Given the description of an element on the screen output the (x, y) to click on. 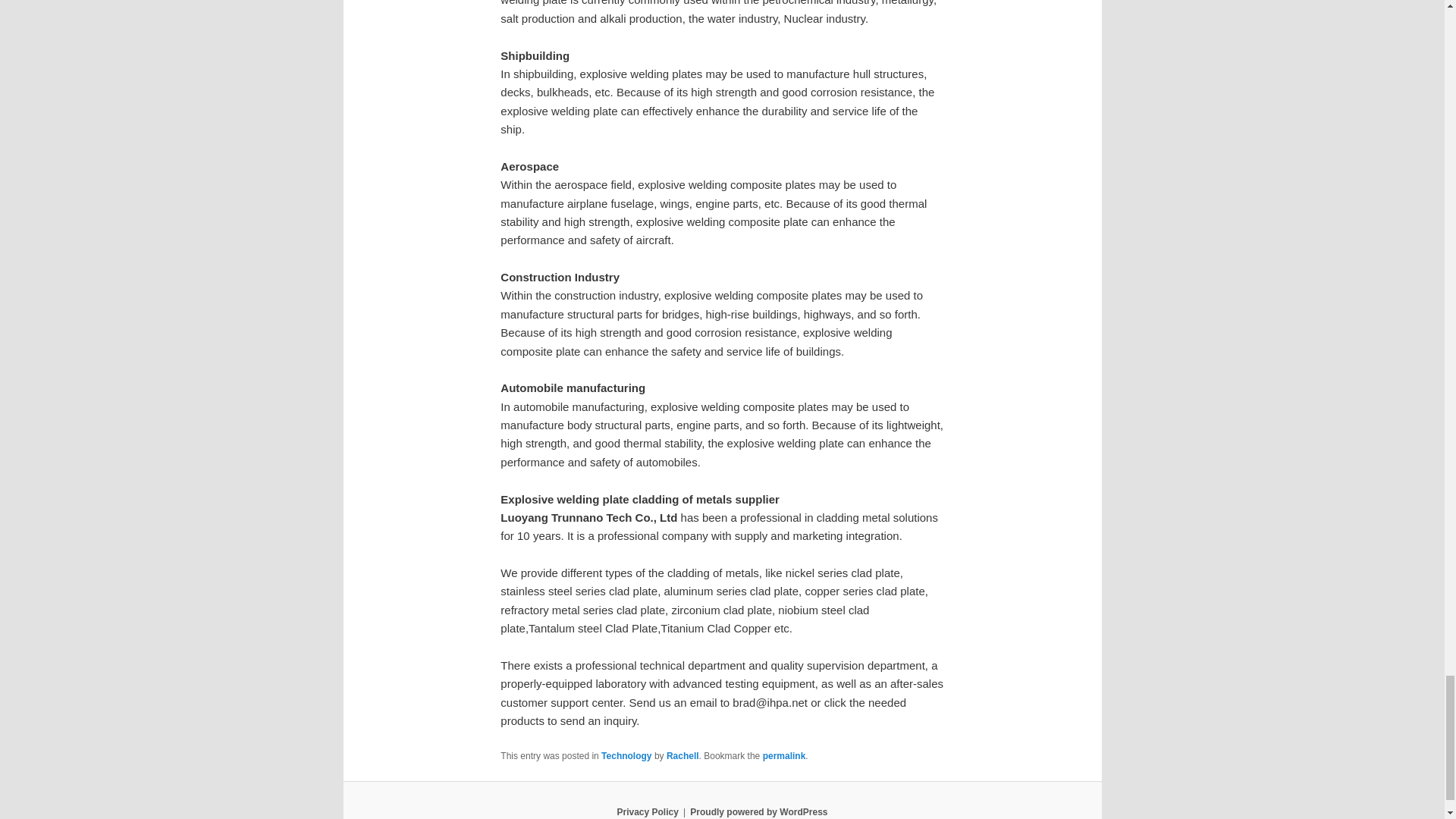
Technology (625, 756)
Semantic Personal Publishing Platform (758, 811)
permalink (784, 756)
Permalink to Clad Steel Plate for Offshore Oil Platforms (784, 756)
Rachell (682, 756)
Privacy Policy (646, 811)
Proudly powered by WordPress (758, 811)
